Given the description of an element on the screen output the (x, y) to click on. 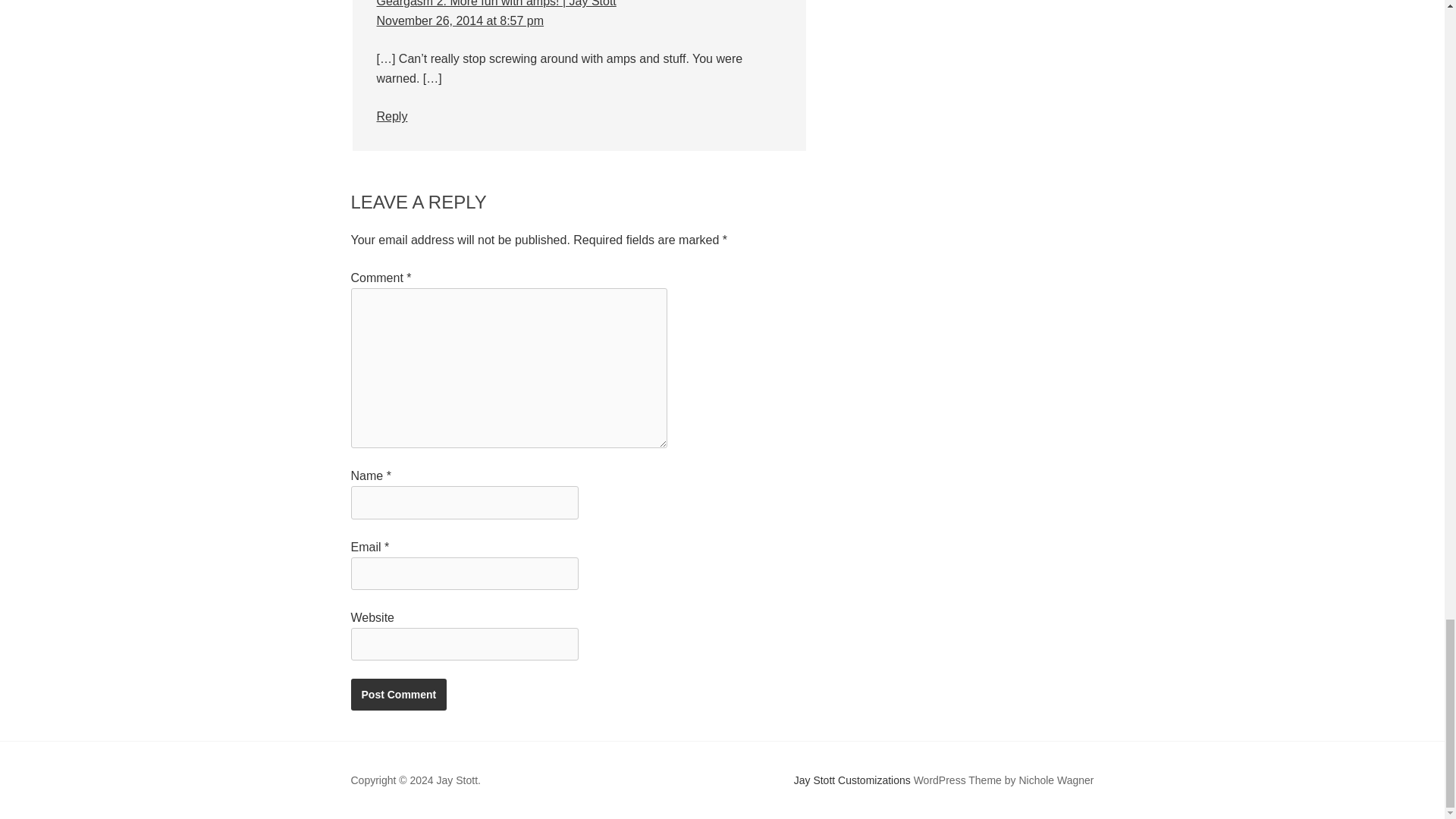
Post Comment (398, 694)
Reply (391, 115)
November 26, 2014 at 8:57 pm (459, 20)
Wednesday, November 26, 2014, 8:57 pm (459, 20)
